Given the description of an element on the screen output the (x, y) to click on. 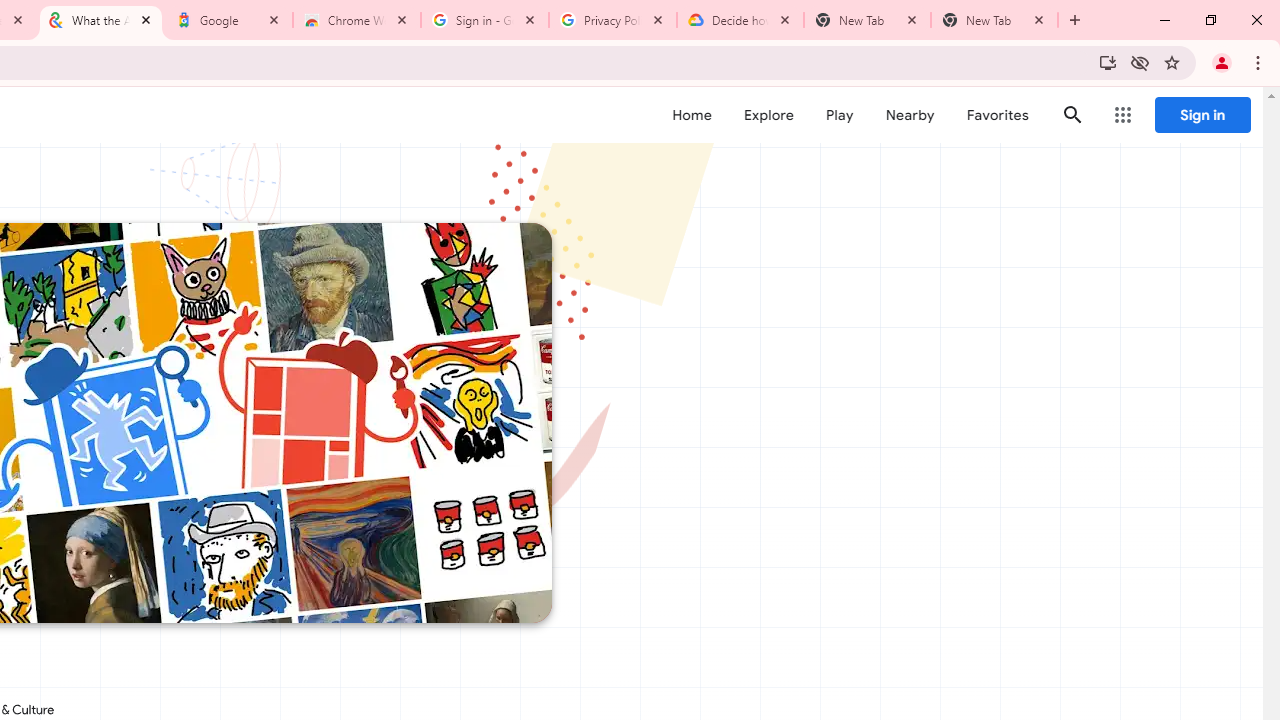
Home (691, 115)
Favorites (996, 115)
New Tab (1075, 20)
New Tab (994, 20)
Sign in (1202, 115)
Play (840, 115)
Third-party cookies blocked (1139, 62)
Nearby (910, 115)
Google (229, 20)
